Given the description of an element on the screen output the (x, y) to click on. 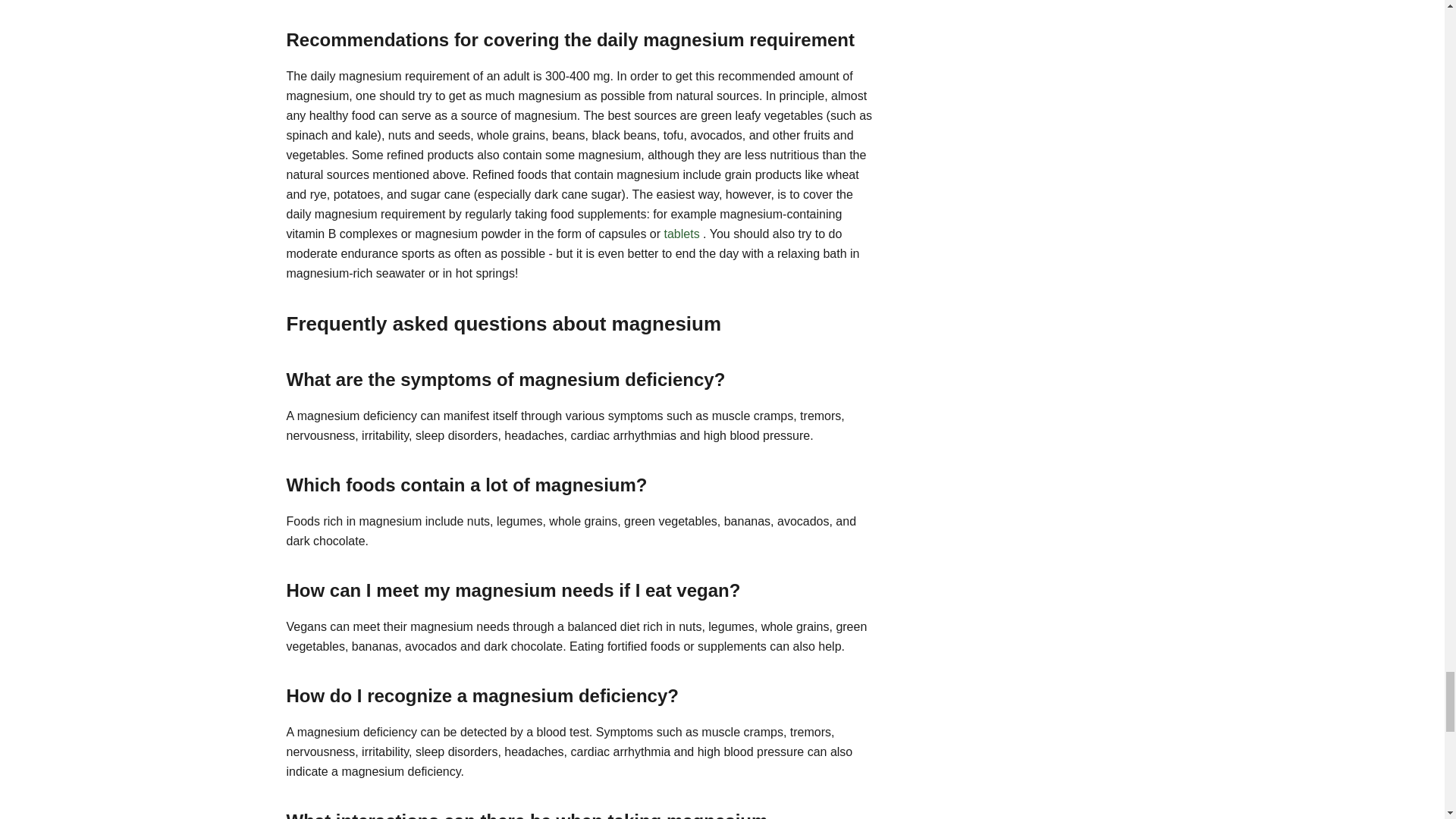
tablets (681, 233)
